Given the description of an element on the screen output the (x, y) to click on. 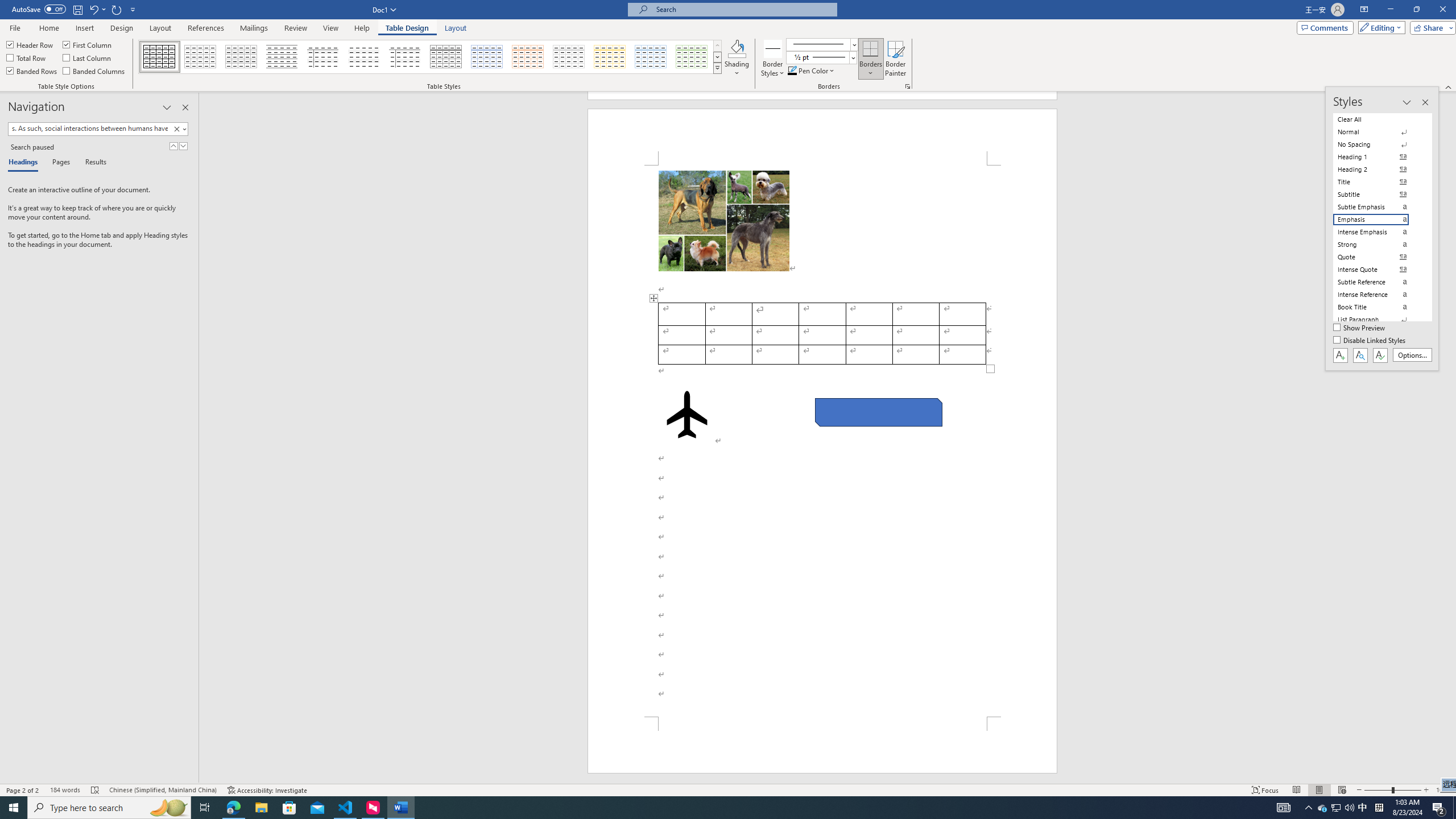
Previous Result (173, 145)
